Given the description of an element on the screen output the (x, y) to click on. 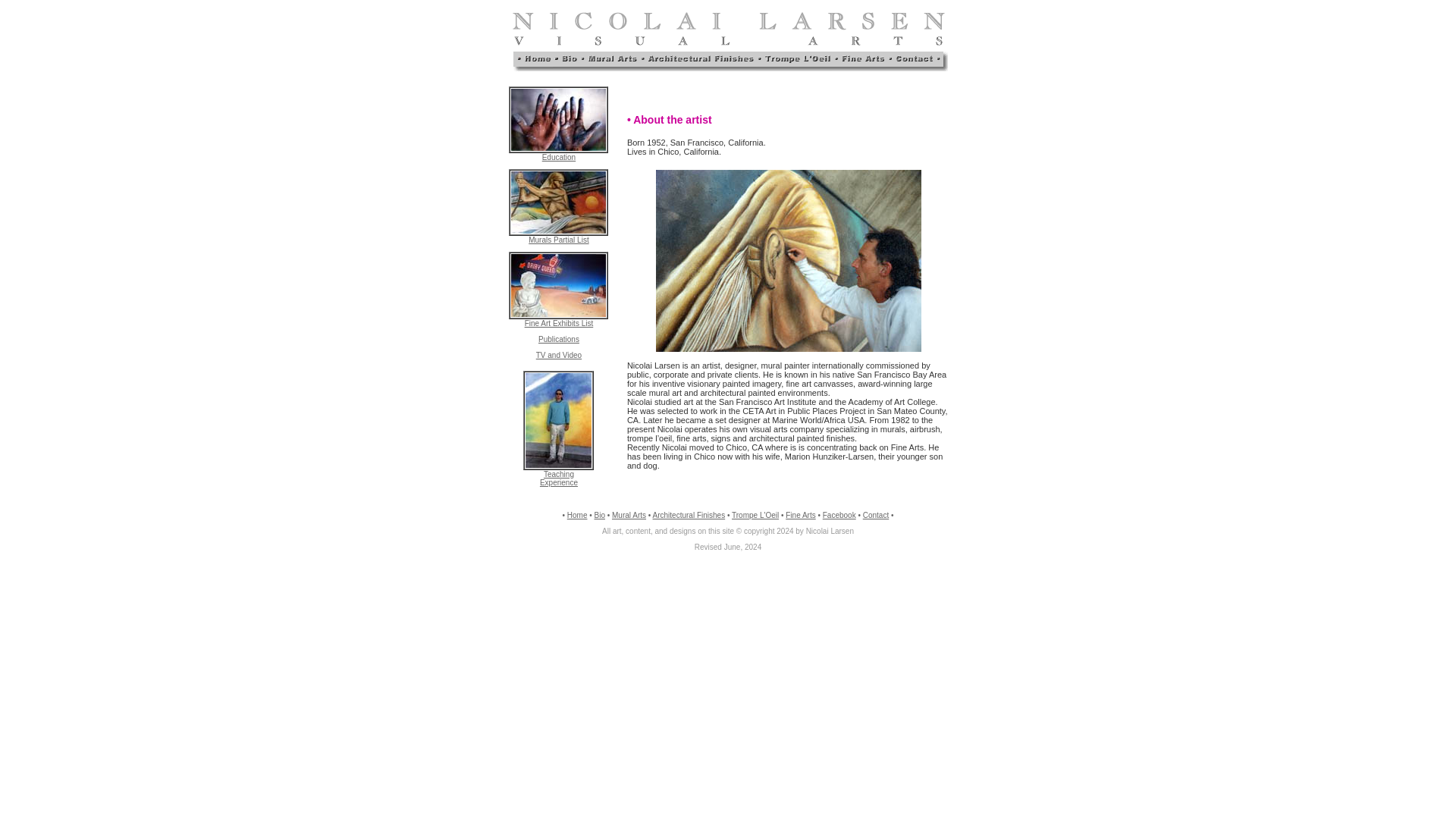
Architectural Finishes (688, 515)
Mural Arts (559, 478)
Bio (628, 515)
Home (599, 515)
Contact (577, 515)
TV and Video (875, 515)
Fine Art Exhibits List (557, 355)
Trompe L'Oeil (559, 323)
Publications (755, 515)
Education (558, 338)
Facebook (558, 157)
Fine Arts (839, 515)
Murals Partial List (800, 515)
